Given the description of an element on the screen output the (x, y) to click on. 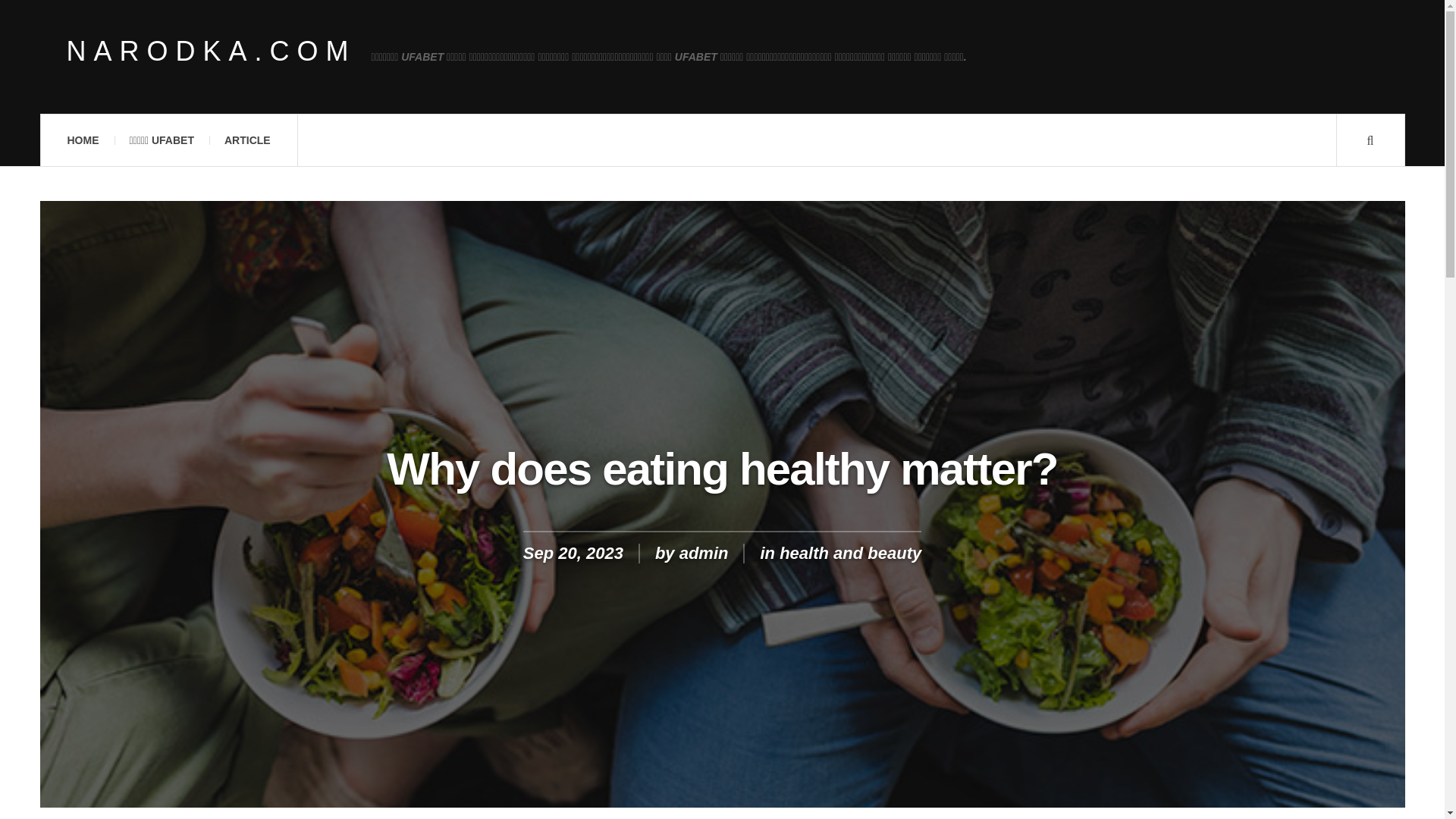
ARTICLE (247, 140)
NARODKA.COM (211, 51)
health and beauty (849, 552)
narodka.com (211, 51)
HOME (81, 140)
View all posts in health and beauty (849, 552)
admin (704, 552)
